Given the description of an element on the screen output the (x, y) to click on. 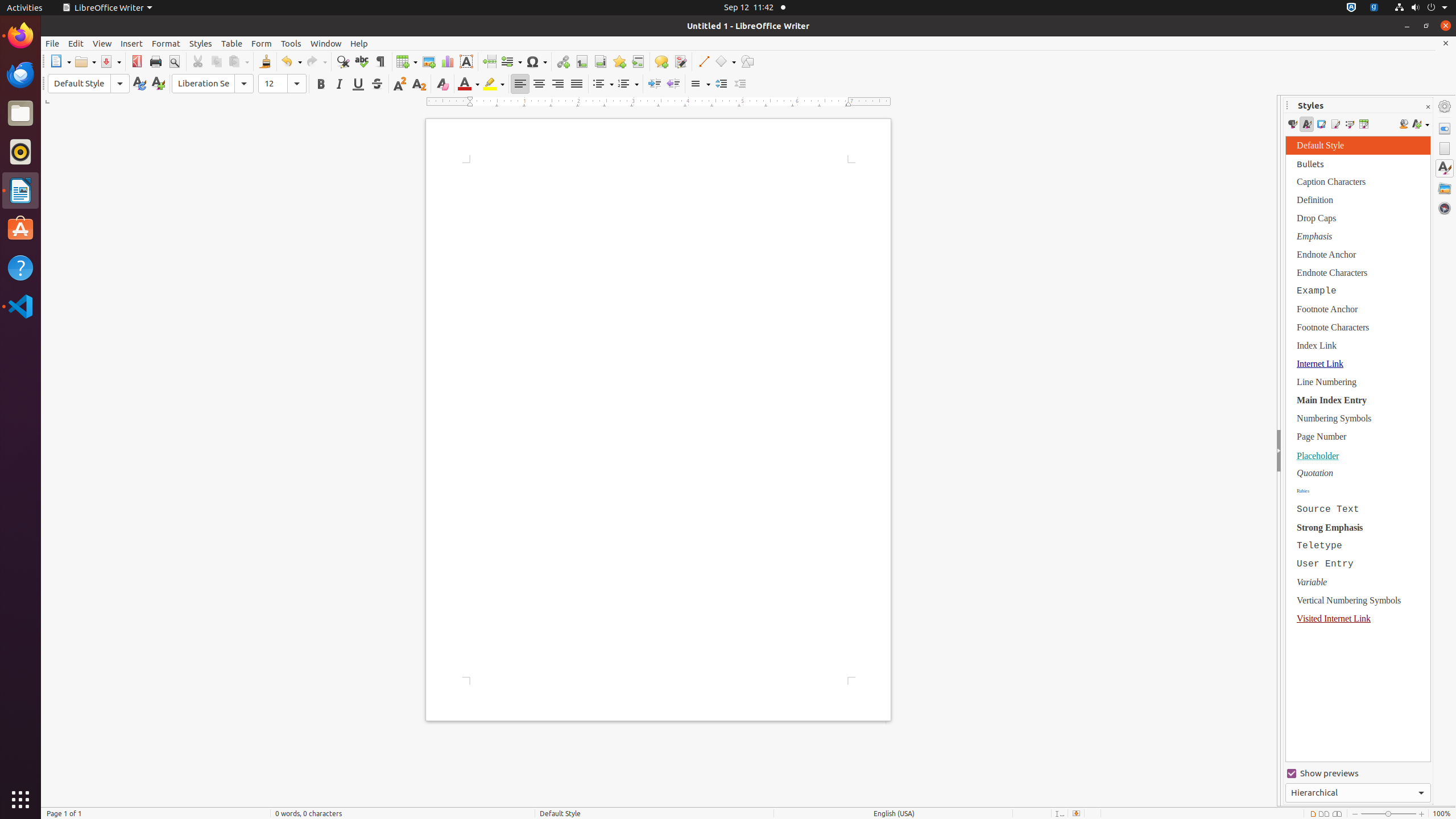
Right Element type: toggle-button (557, 83)
Strikethrough Element type: toggle-button (376, 83)
:1.72/StatusNotifierItem Element type: menu (1350, 7)
File Element type: menu (51, 43)
Close Sidebar Deck Element type: push-button (1427, 106)
